Given the description of an element on the screen output the (x, y) to click on. 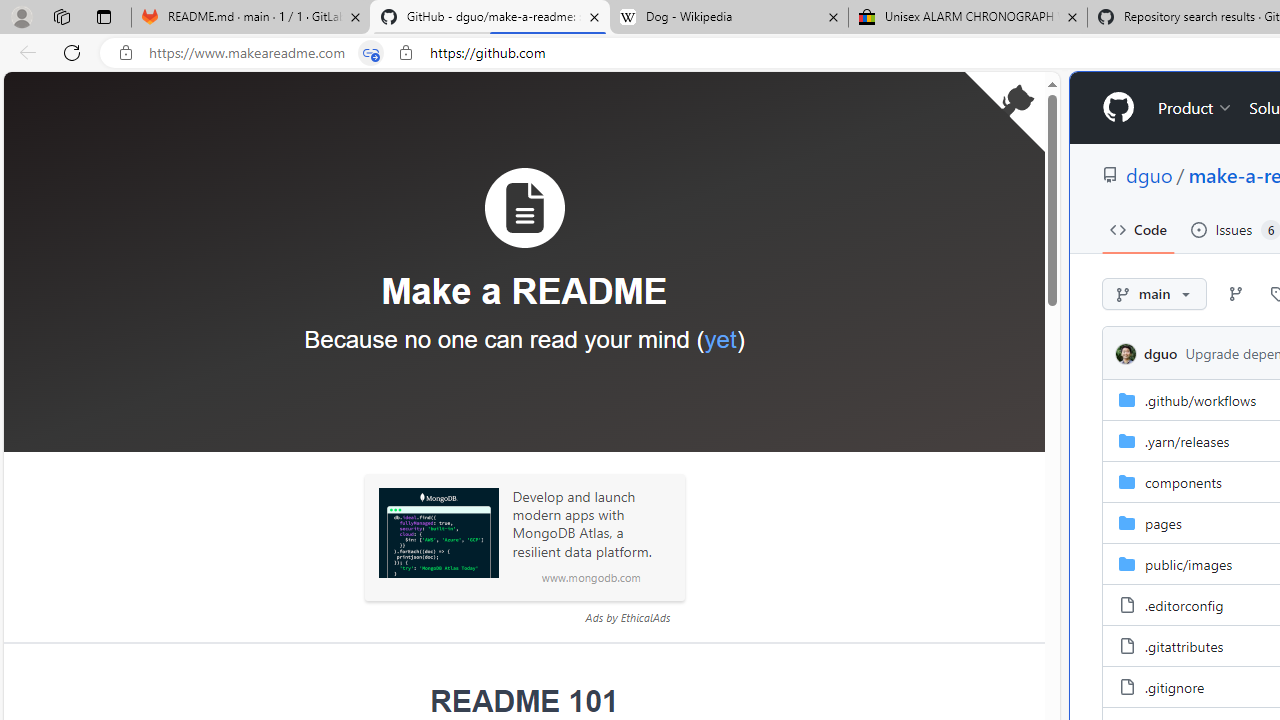
Open GitHub project (1004, 111)
yet (720, 339)
Code (1138, 229)
components, (Directory) (1183, 481)
Tabs in split screen (371, 53)
Dog - Wikipedia (729, 17)
Homepage (1118, 107)
.yarn/releases, (Directory) (1187, 440)
public/images, (Directory) (1188, 563)
.gitattributes, (File) (1184, 645)
